Given the description of an element on the screen output the (x, y) to click on. 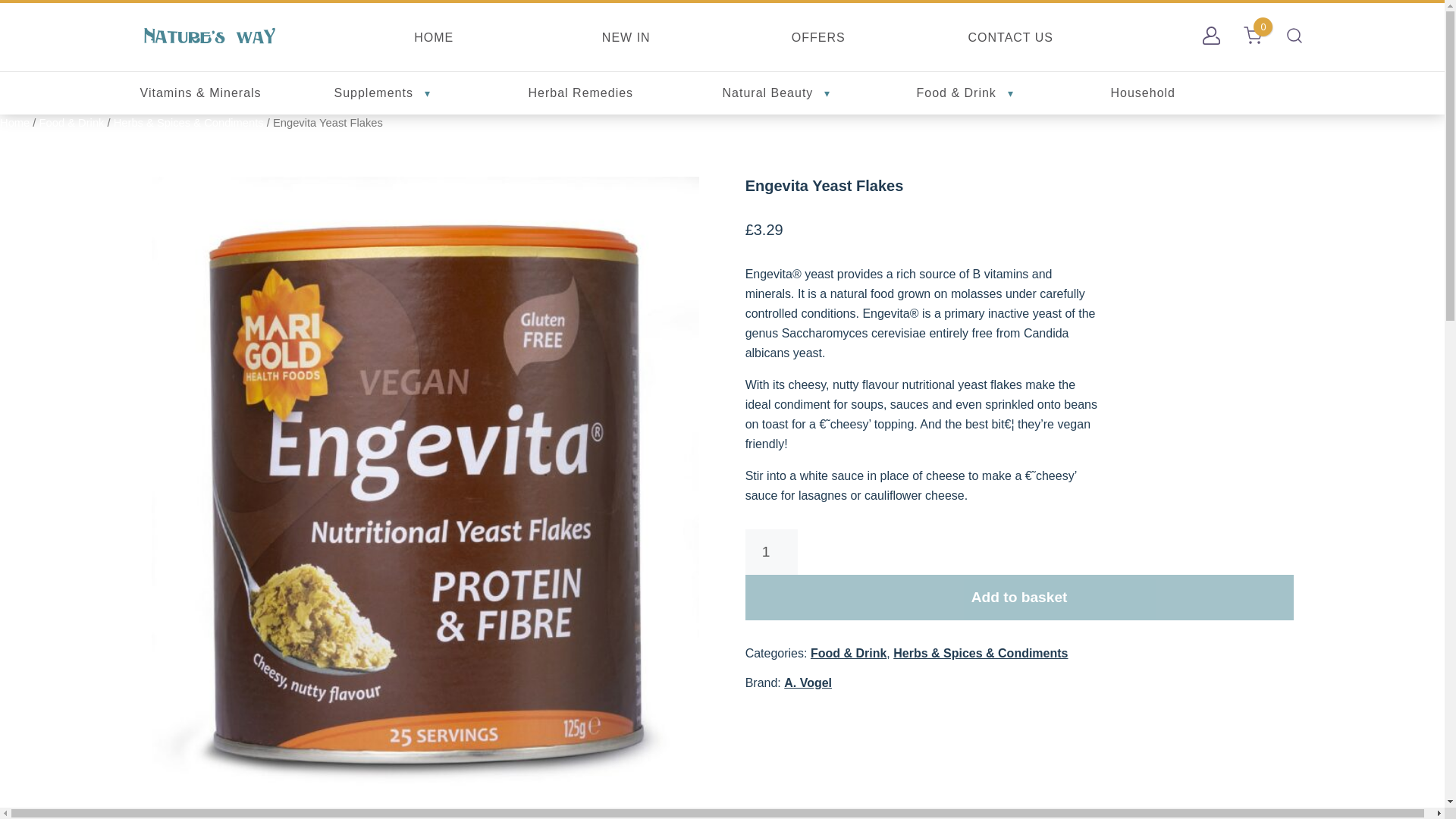
Natural Beauty (775, 92)
HOME (432, 37)
0 (1252, 34)
OFFERS (818, 37)
NEW IN (626, 37)
Supplements (381, 92)
Herbal Remedies (580, 92)
CONTACT US (1010, 37)
1 (771, 551)
